Given the description of an element on the screen output the (x, y) to click on. 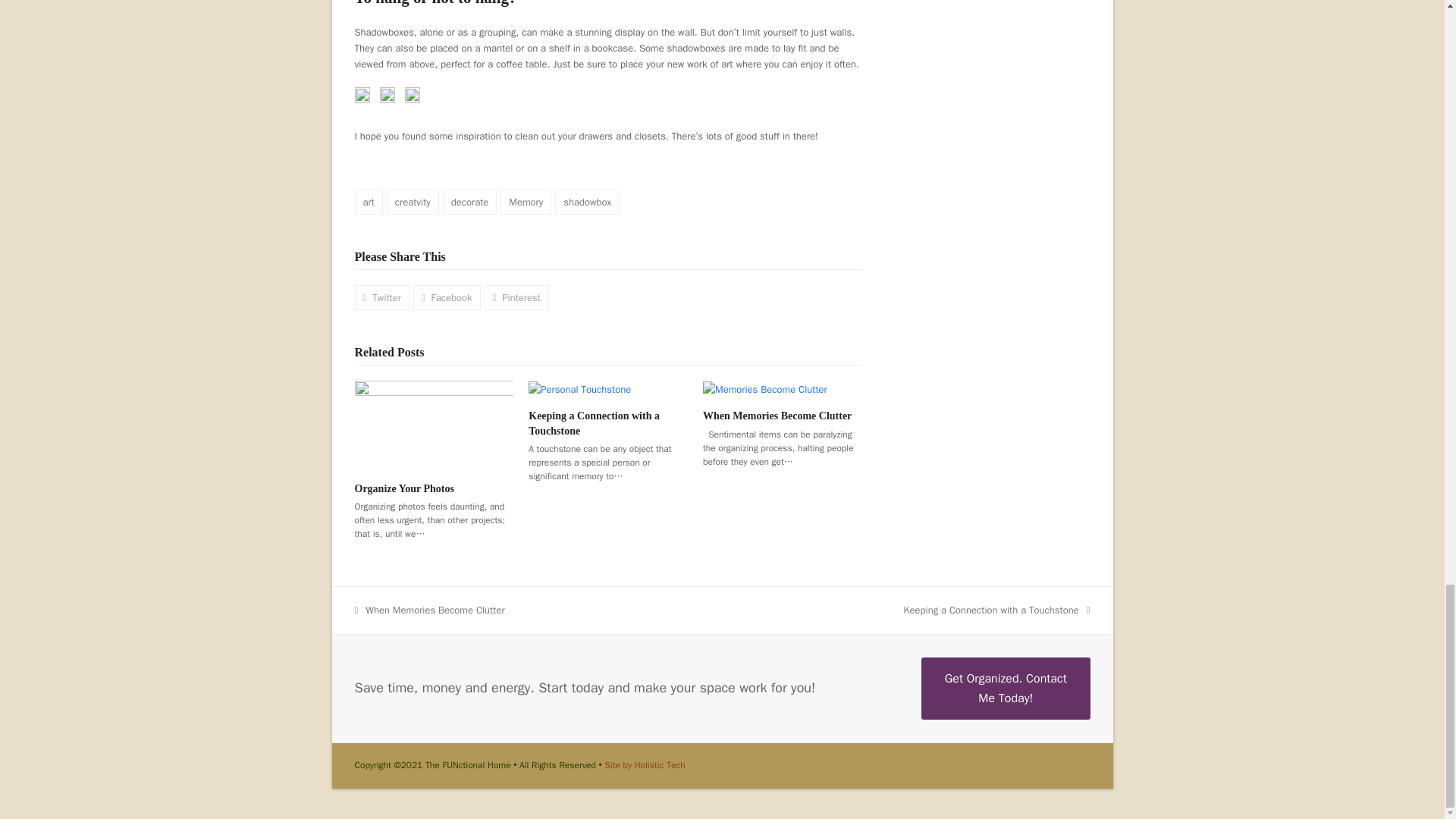
When Memories Become Clutter (765, 388)
Organize Your Photos (434, 423)
Keeping a Connection with a Touchstone (579, 388)
decorate (469, 201)
shadowbox (587, 201)
Memory (525, 201)
Twitter (382, 297)
creatvity (413, 201)
art (368, 201)
